Given the description of an element on the screen output the (x, y) to click on. 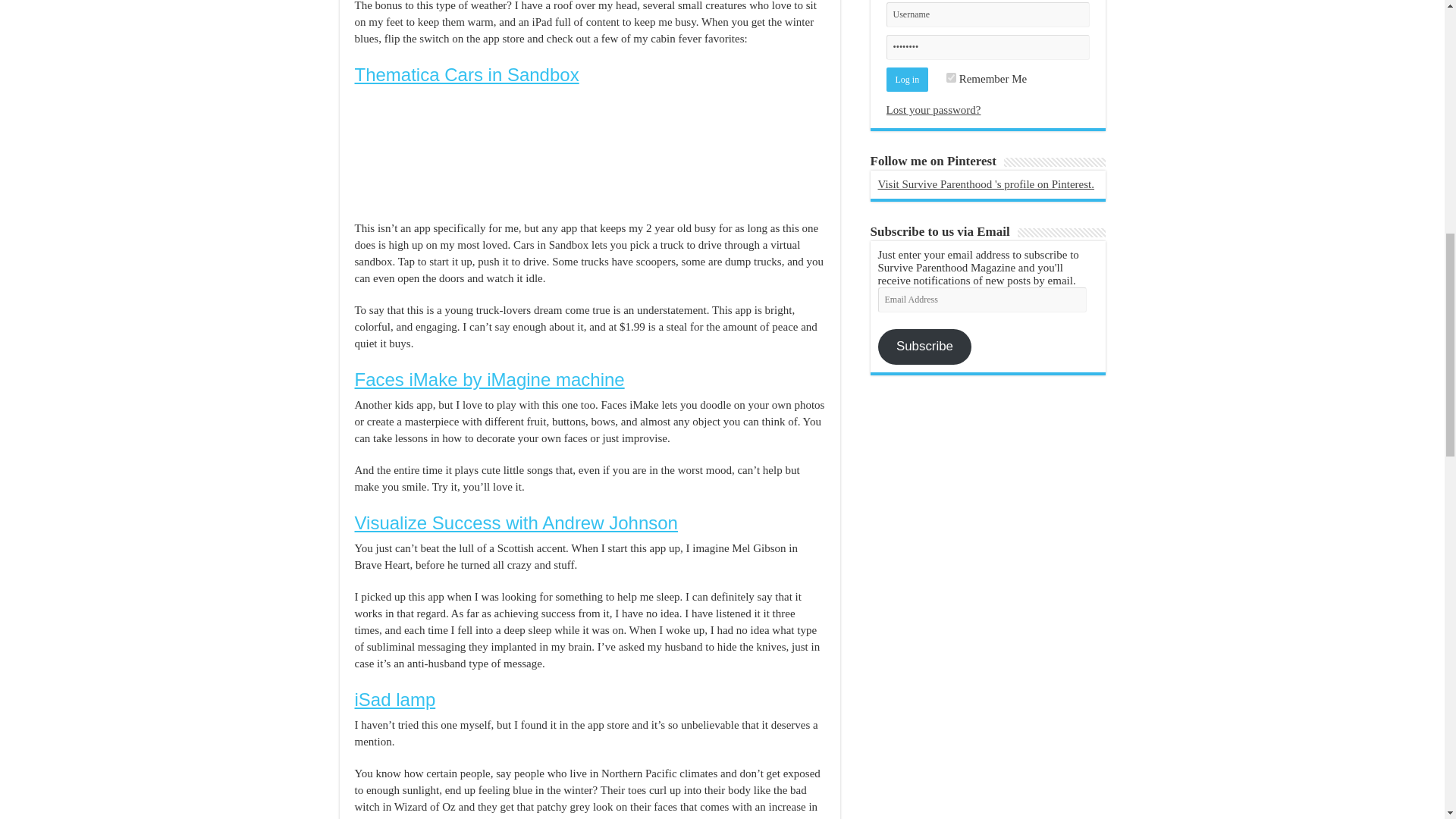
Password (987, 47)
forever (951, 77)
Username (987, 14)
Log in (906, 79)
